Given the description of an element on the screen output the (x, y) to click on. 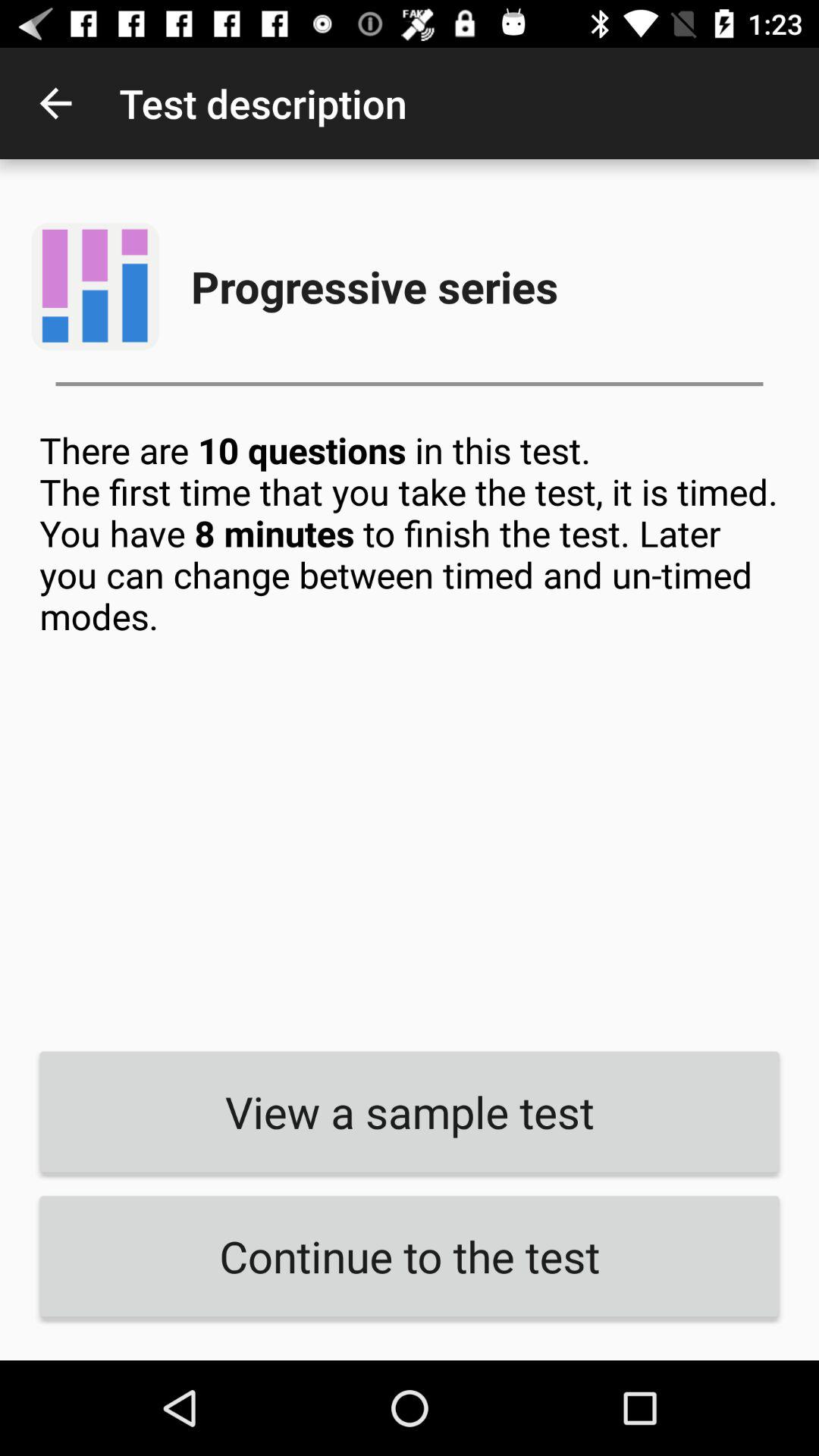
turn off the item at the center (409, 728)
